Given the description of an element on the screen output the (x, y) to click on. 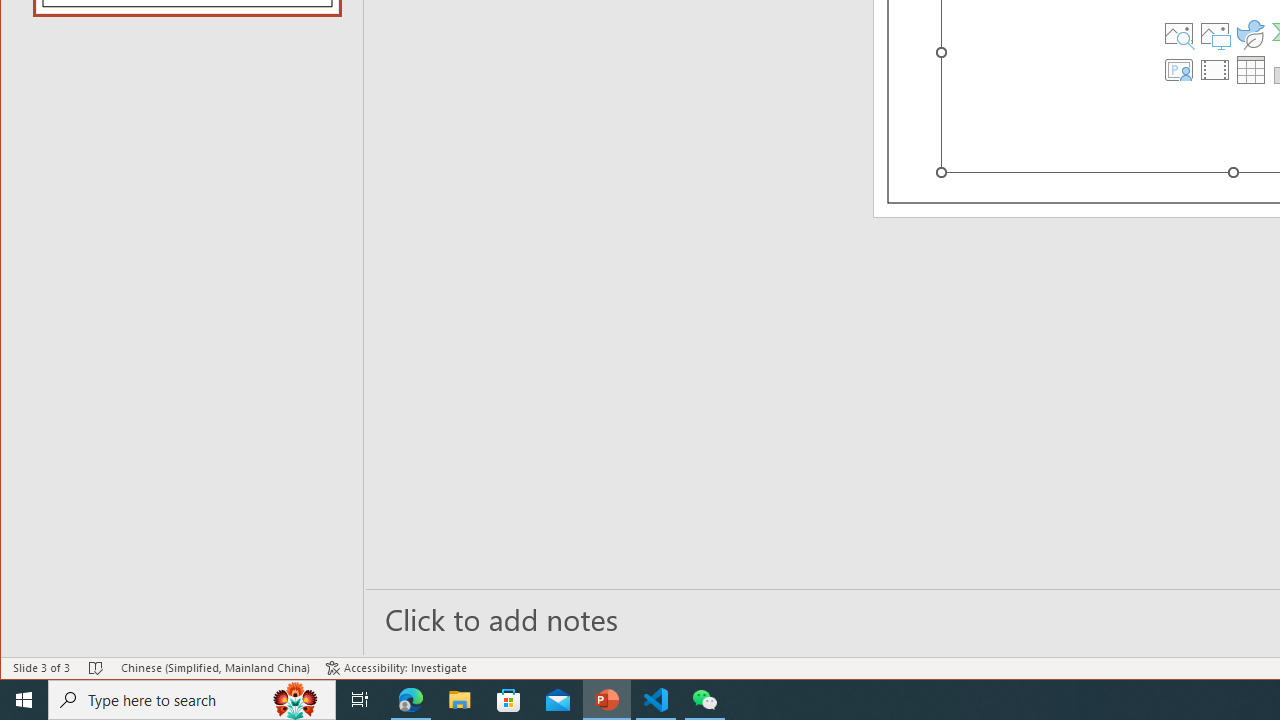
Insert Table (1251, 69)
Insert Video (1215, 69)
